Given the description of an element on the screen output the (x, y) to click on. 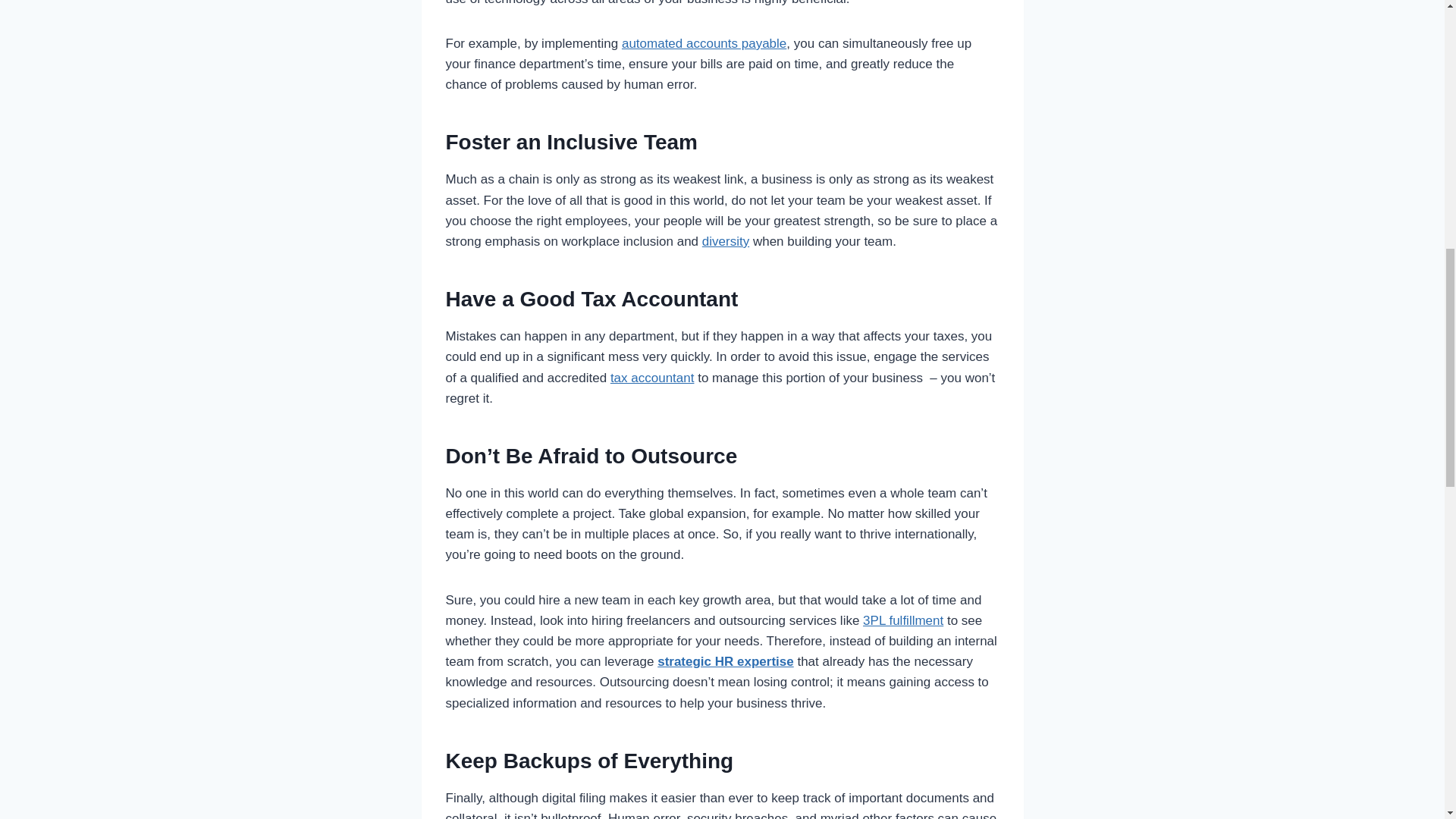
tax accountant (652, 377)
3PL fulfillment (903, 620)
strategic HR expertise (725, 661)
automated accounts payable (703, 43)
diversity (725, 241)
